Given the description of an element on the screen output the (x, y) to click on. 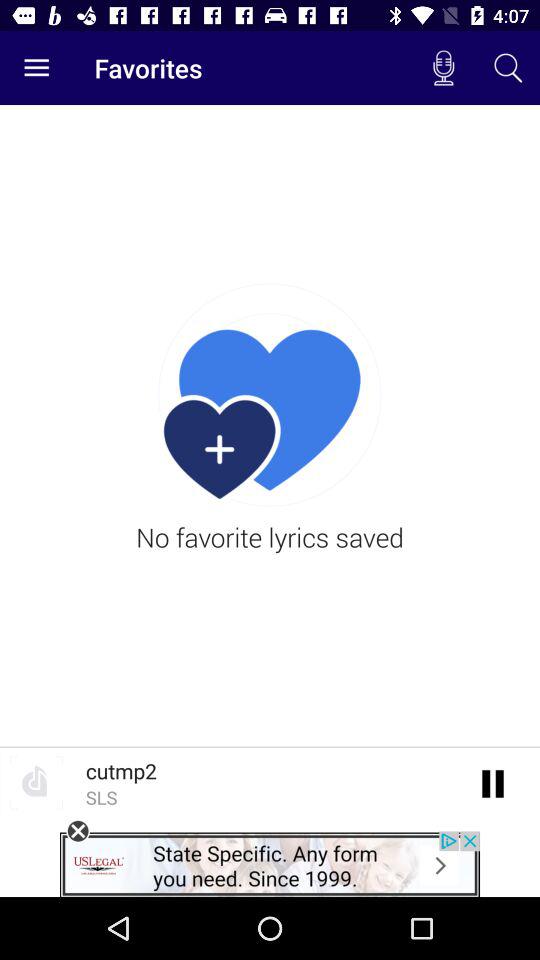
colos putton (78, 831)
